Given the description of an element on the screen output the (x, y) to click on. 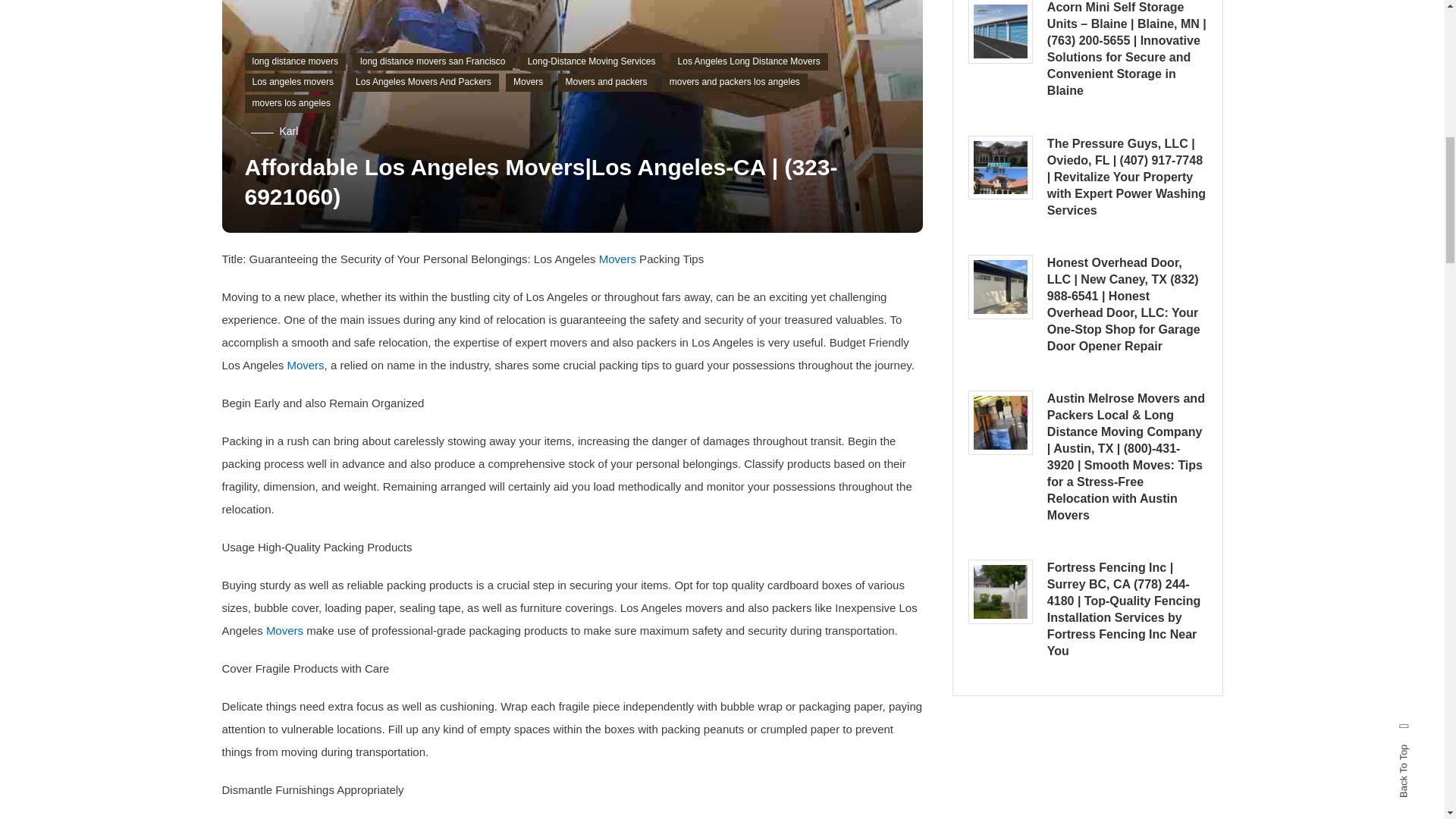
Long-Distance Moving Services (591, 62)
long distance movers (294, 62)
long distance movers san Francisco (432, 62)
